Given the description of an element on the screen output the (x, y) to click on. 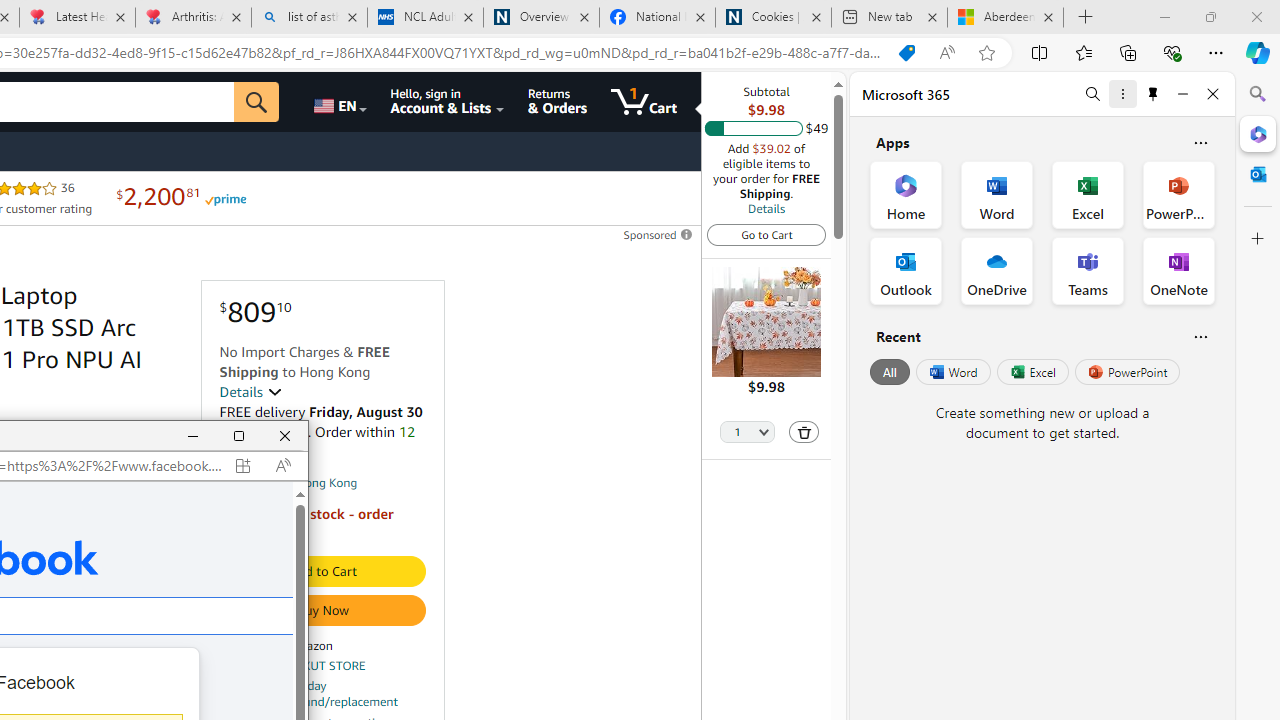
NCL Adult Asthma Inhaler Choice Guideline (424, 17)
Teams Office App (1087, 270)
1 item in cart (643, 101)
Close Customize pane (1258, 239)
Returns & Orders (557, 101)
PowerPoint Office App (1178, 194)
Details (765, 208)
You have the best price! (906, 53)
